Given the description of an element on the screen output the (x, y) to click on. 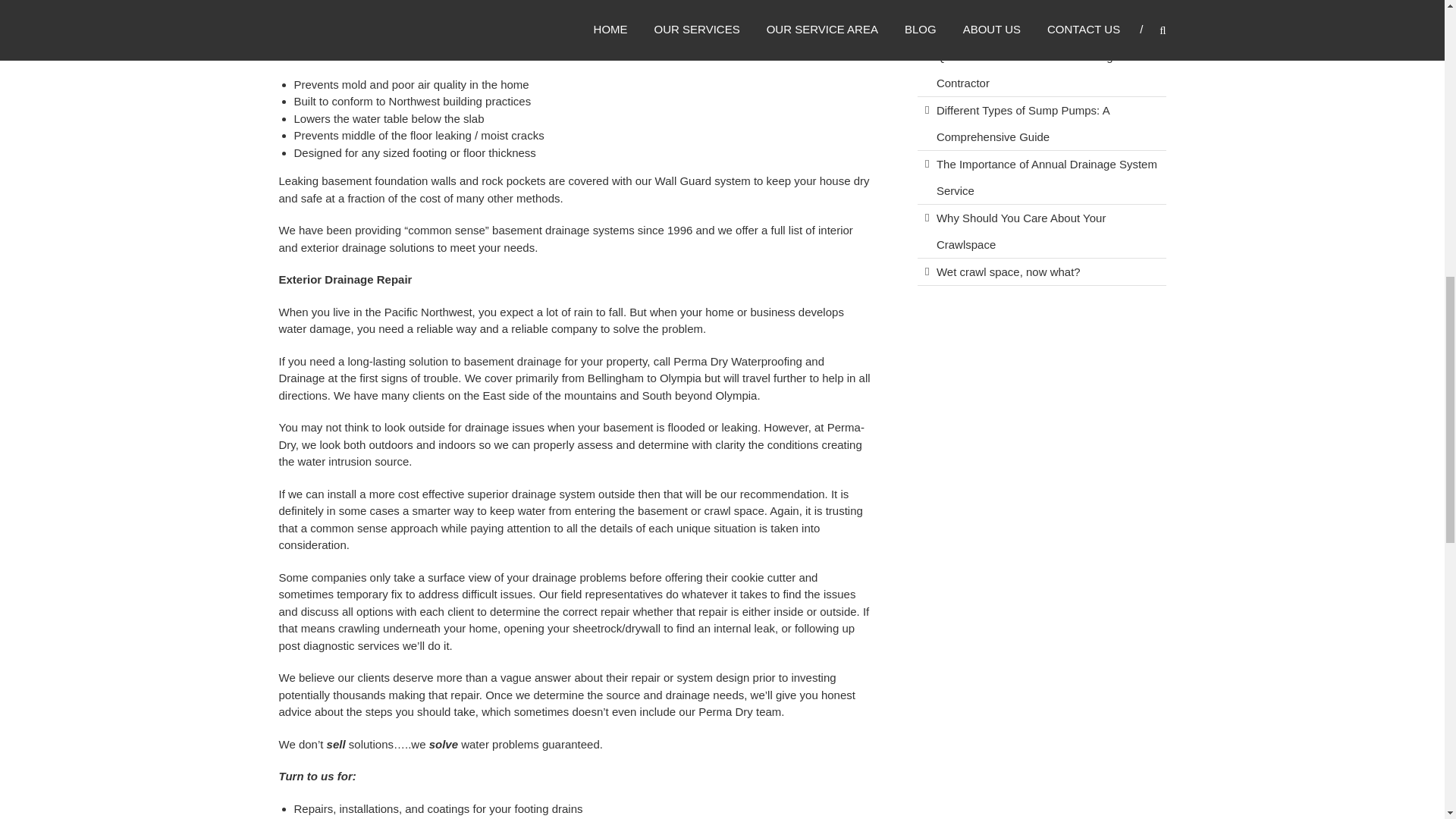
Questions to Ask A Seattle Drainage Contractor (1027, 69)
The Importance of Annual Drainage System Service (1046, 177)
Why Should You Care About Your Crawlspace (1021, 230)
Different Types of Sump Pumps: A Comprehensive Guide (1022, 123)
Wet crawl space, now what? (1008, 271)
